Given the description of an element on the screen output the (x, y) to click on. 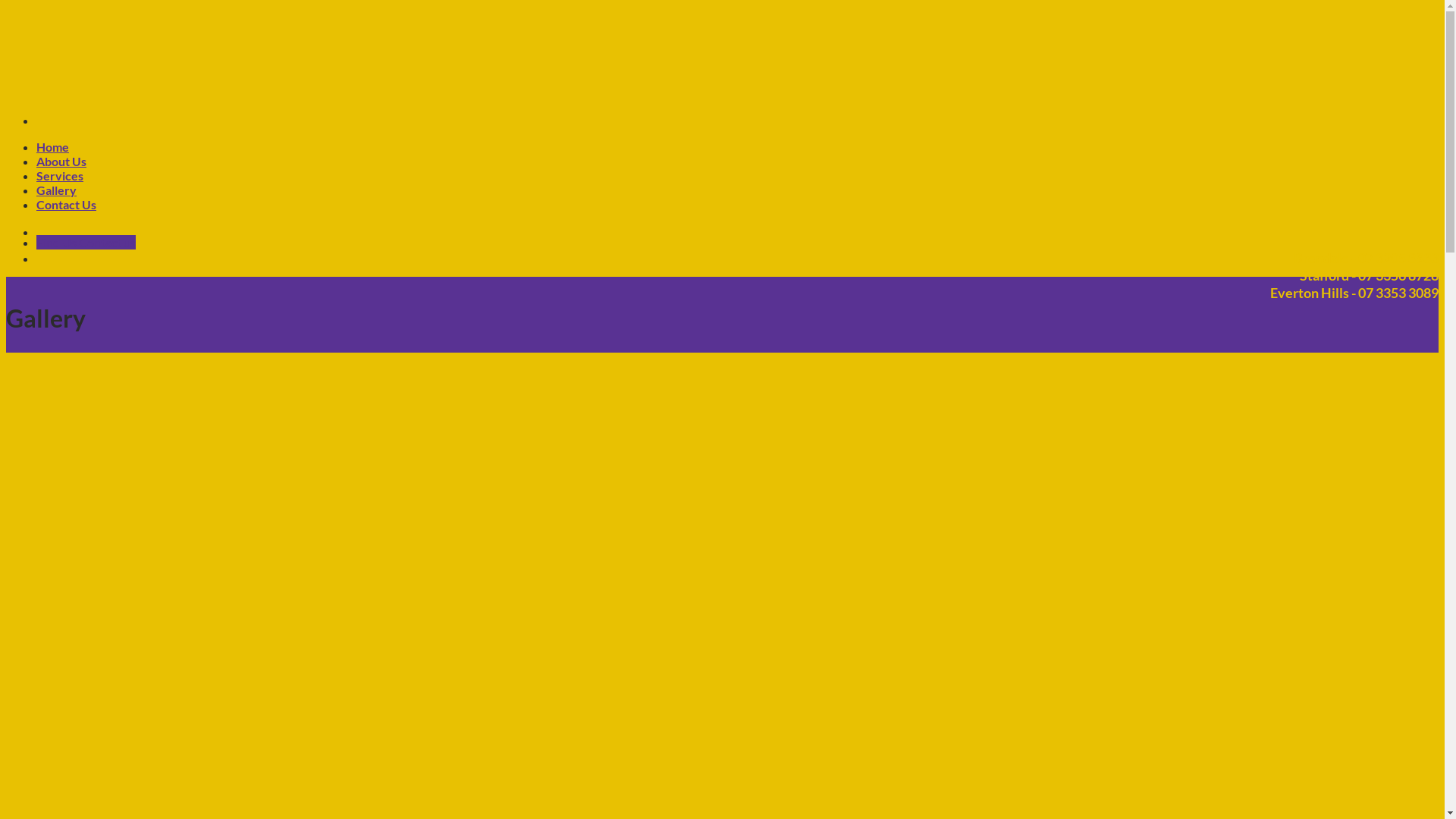
Everton Hills - 07 3353 3089 Element type: text (1343, 293)
About Us Element type: text (61, 160)
Services Element type: text (59, 175)
Contact Us Element type: text (66, 204)
Home Element type: text (52, 146)
Find Us Element type: text (57, 242)
Stafford - 07 3356 8728 Element type: text (1358, 275)
Gallery Element type: text (56, 189)
Contact us Element type: text (106, 242)
Skip to content Element type: text (5, 5)
Brendale - 07 3205 8933 Element type: text (1355, 258)
